Given the description of an element on the screen output the (x, y) to click on. 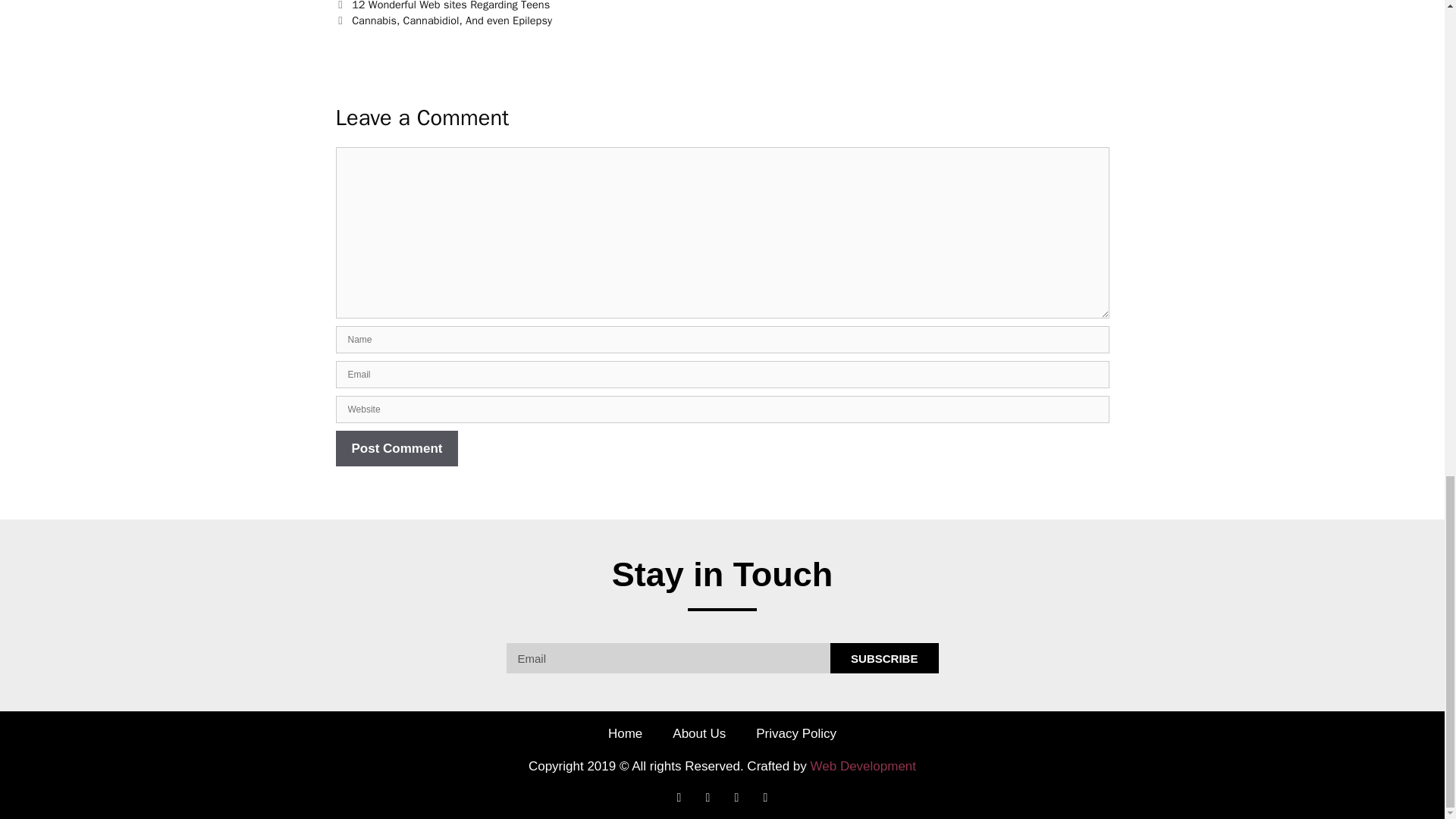
Post Comment (396, 448)
Previous (442, 5)
Next (442, 20)
